Given the description of an element on the screen output the (x, y) to click on. 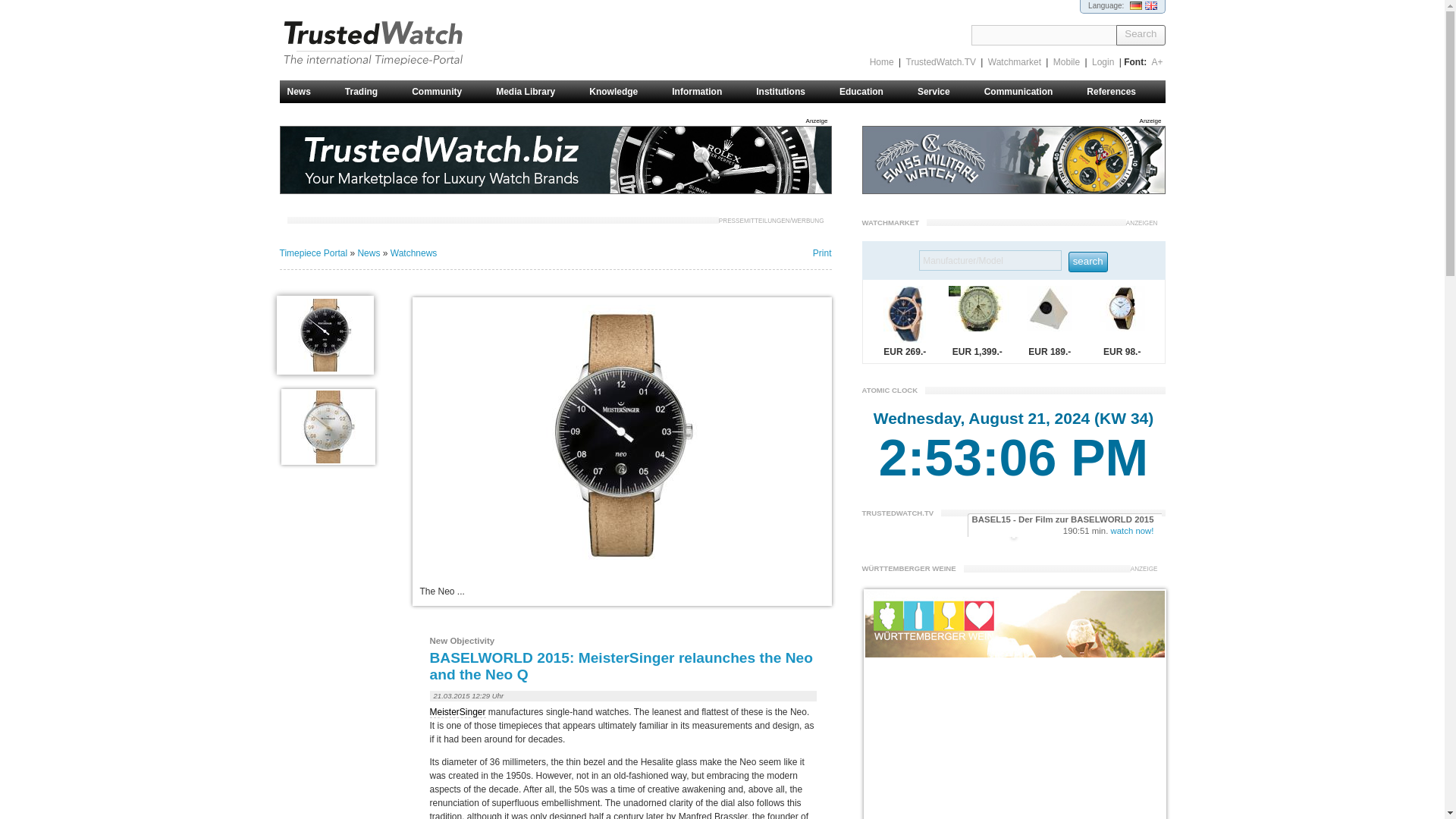
Knowledge (639, 91)
Community (463, 91)
News (325, 91)
Information (723, 91)
Media Library (551, 91)
... and the Neo Q (327, 427)
Home (881, 61)
The Neo ... (324, 334)
Trading (387, 91)
